Given the description of an element on the screen output the (x, y) to click on. 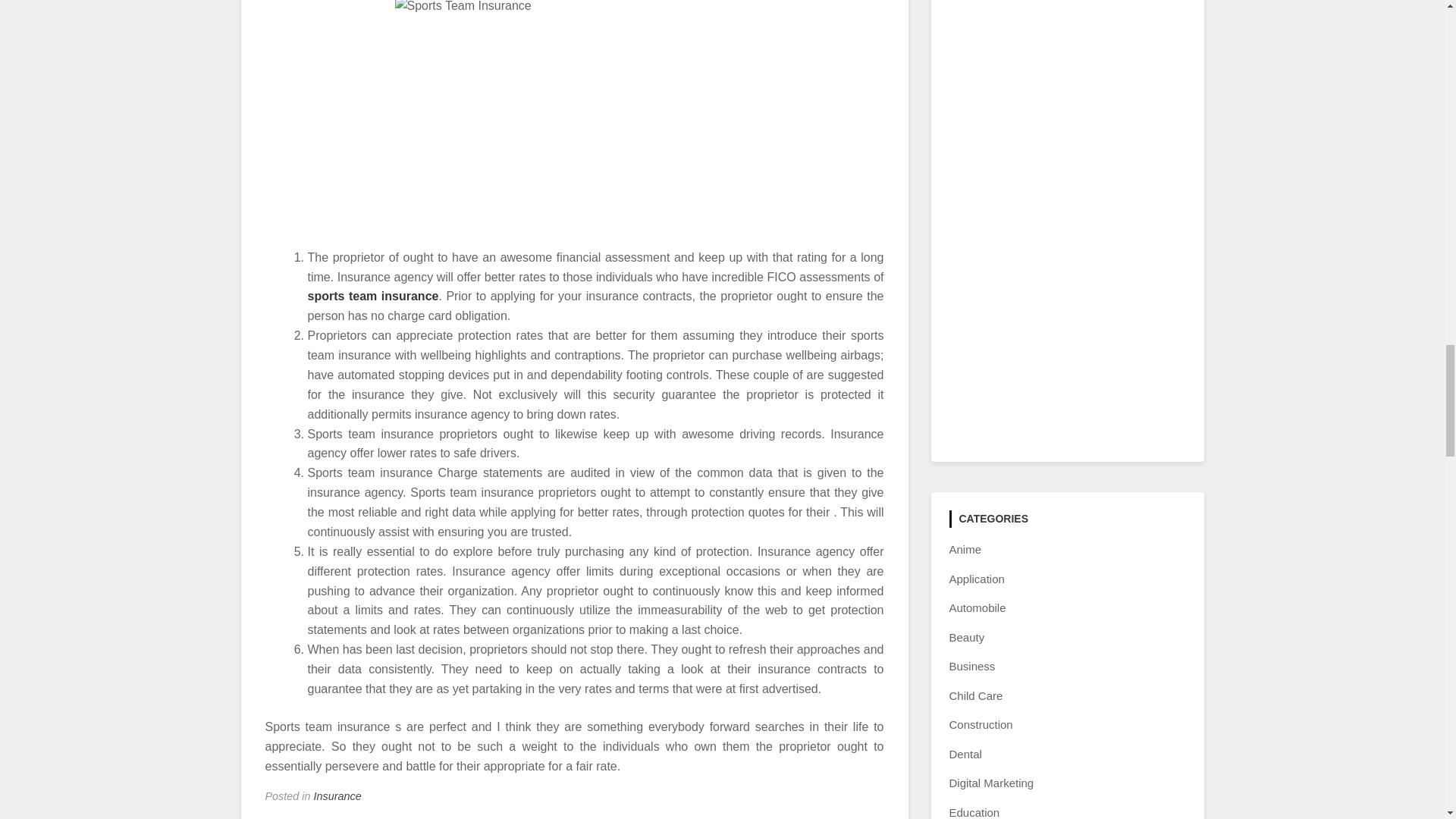
sports team insurance (373, 295)
Insurance (337, 796)
